Given the description of an element on the screen output the (x, y) to click on. 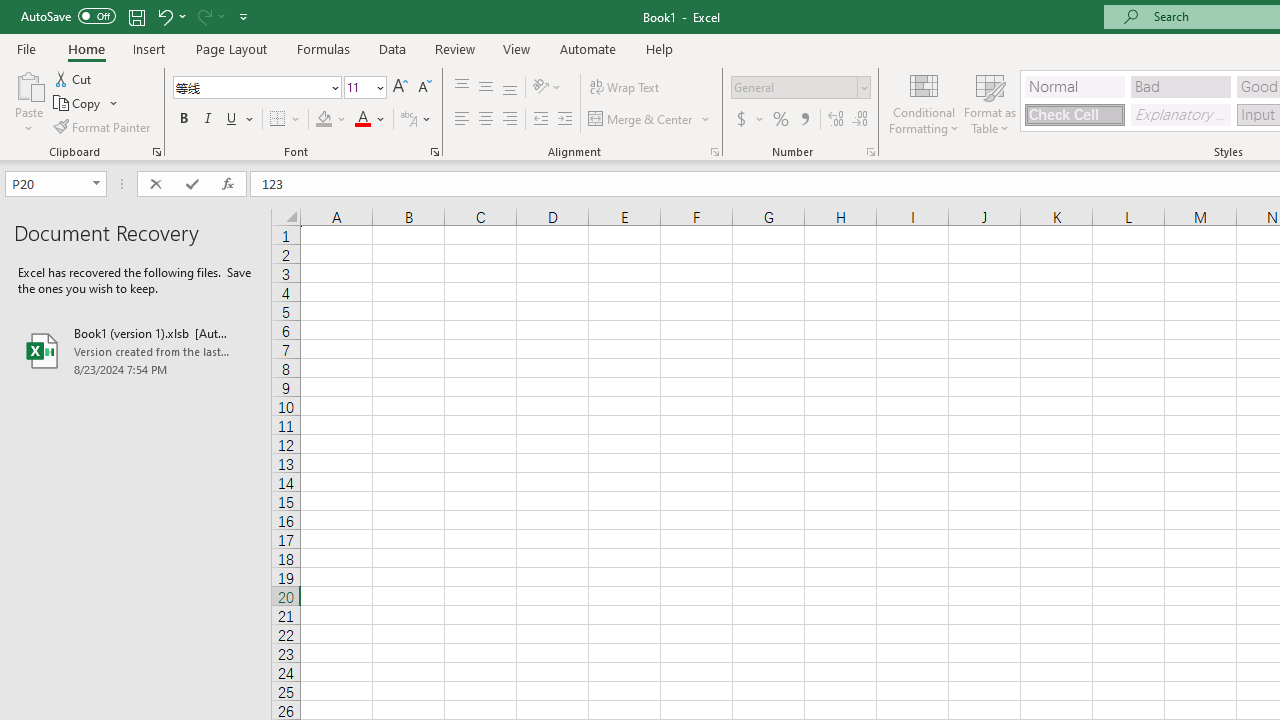
Increase Decimal (836, 119)
Accounting Number Format (749, 119)
Font Size (365, 87)
Comma Style (804, 119)
Top Align (461, 87)
Show Phonetic Field (408, 119)
Explanatory Text (1180, 114)
Fill Color RGB(255, 255, 0) (324, 119)
Percent Style (781, 119)
Copy (78, 103)
Font Color RGB(255, 0, 0) (362, 119)
Paste (28, 102)
